Given the description of an element on the screen output the (x, y) to click on. 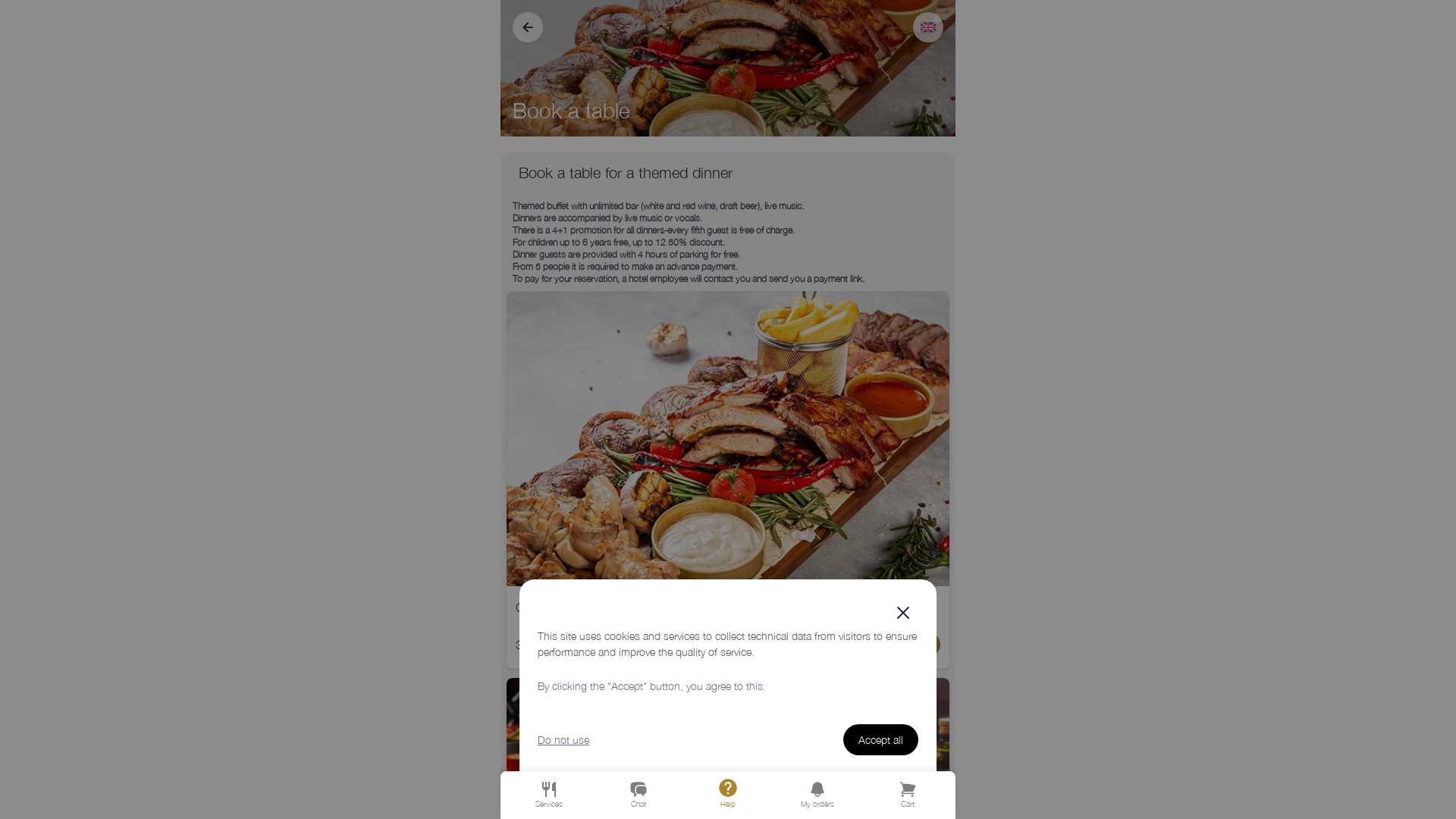
TO BOOK Element type: text (908, 644)
Chat Element type: text (637, 794)
My orders Element type: text (817, 794)
Cart Element type: text (907, 794)
Do not use Element type: text (563, 739)
Help Element type: text (727, 793)
Accept all Element type: text (880, 739)
Services Element type: text (548, 794)
